Given the description of an element on the screen output the (x, y) to click on. 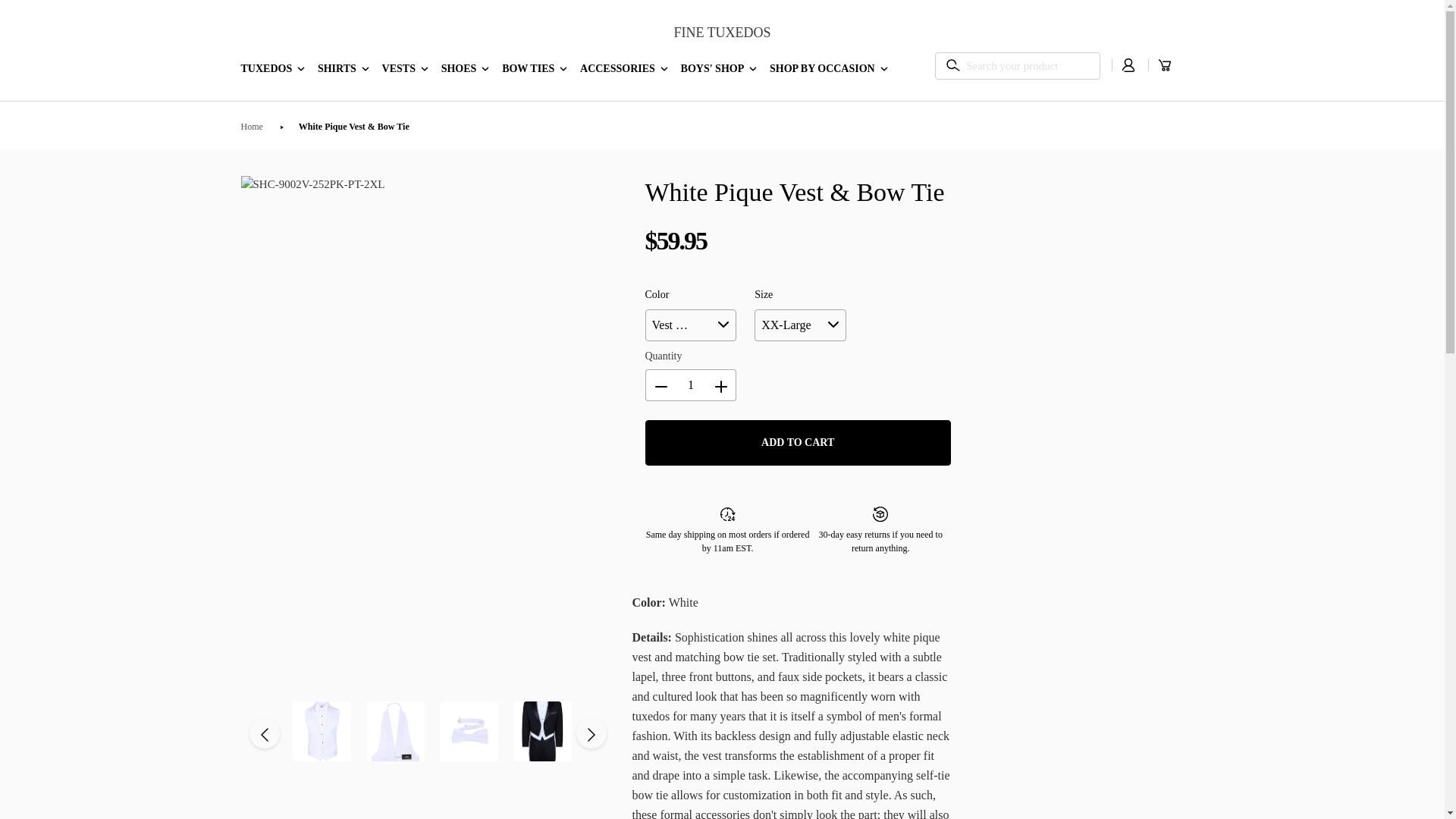
DOWN (485, 68)
Cart (1155, 66)
DOWN (884, 68)
User (1128, 65)
1 (690, 385)
Cart (1164, 65)
FINE TUXEDOS (721, 33)
DOWN (563, 68)
DOWN (752, 68)
DOWN (365, 68)
